Given the description of an element on the screen output the (x, y) to click on. 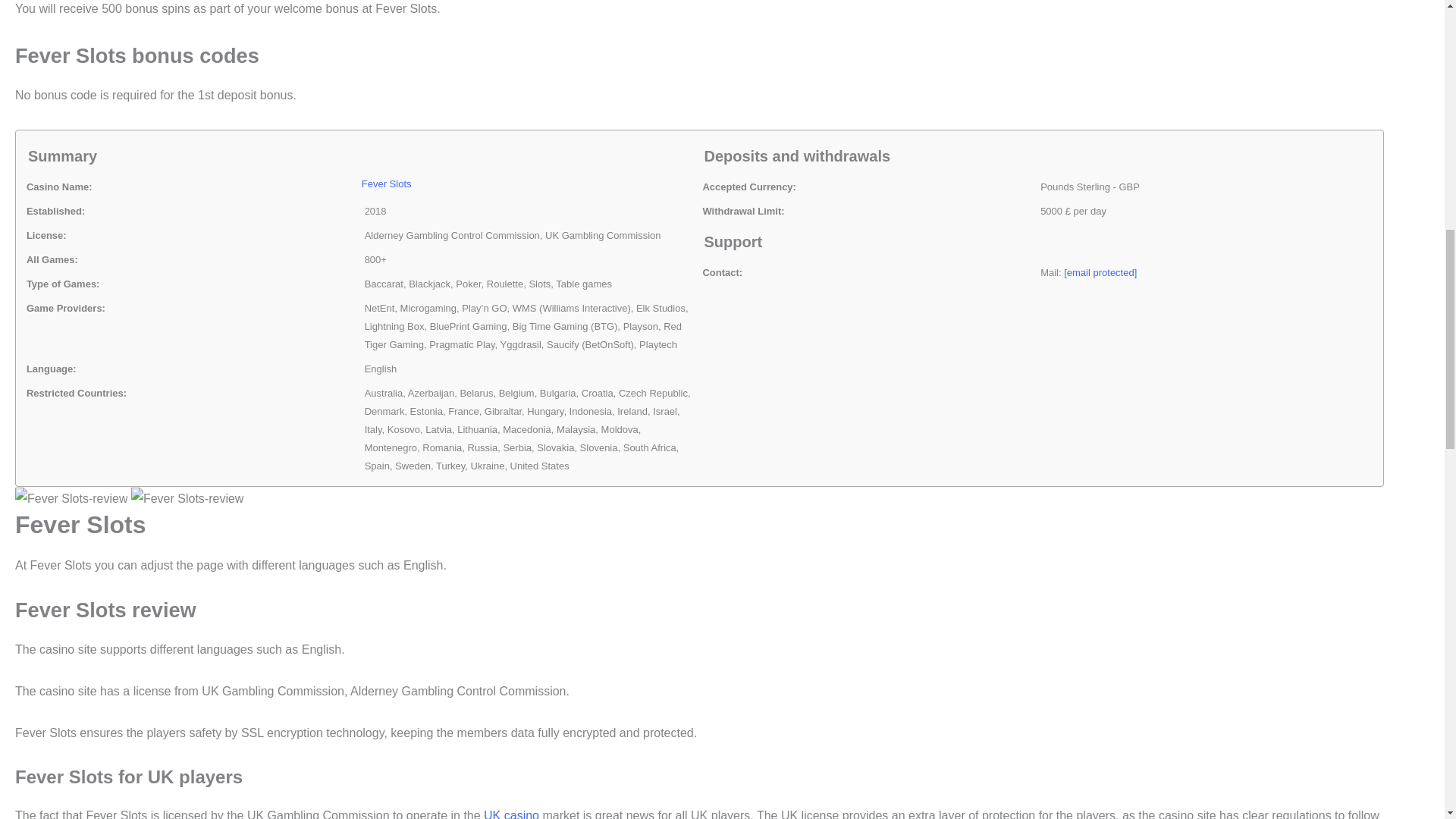
UK casino (510, 814)
Fever Slots (386, 183)
